Given the description of an element on the screen output the (x, y) to click on. 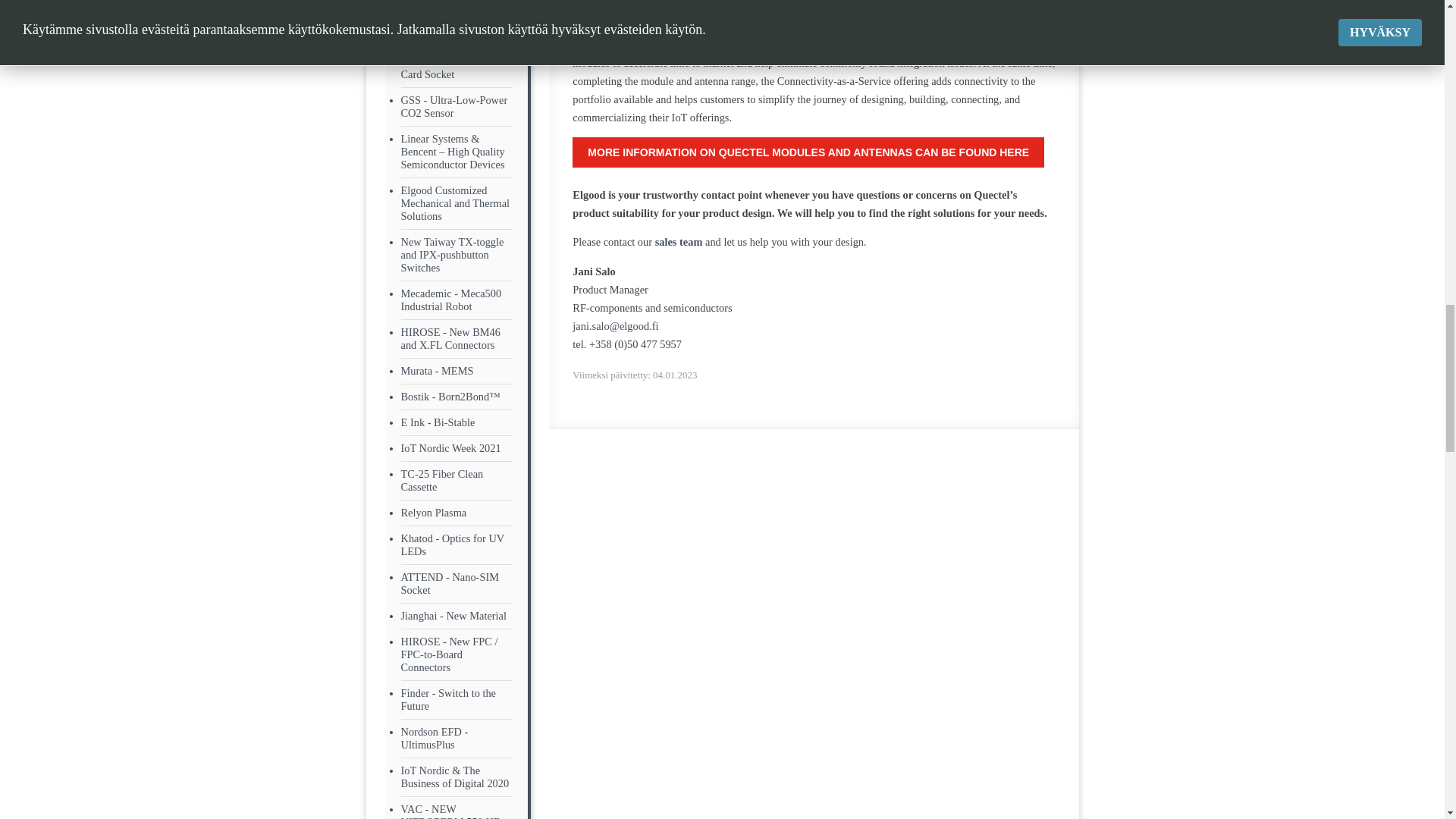
Sales team (679, 241)
